Given the description of an element on the screen output the (x, y) to click on. 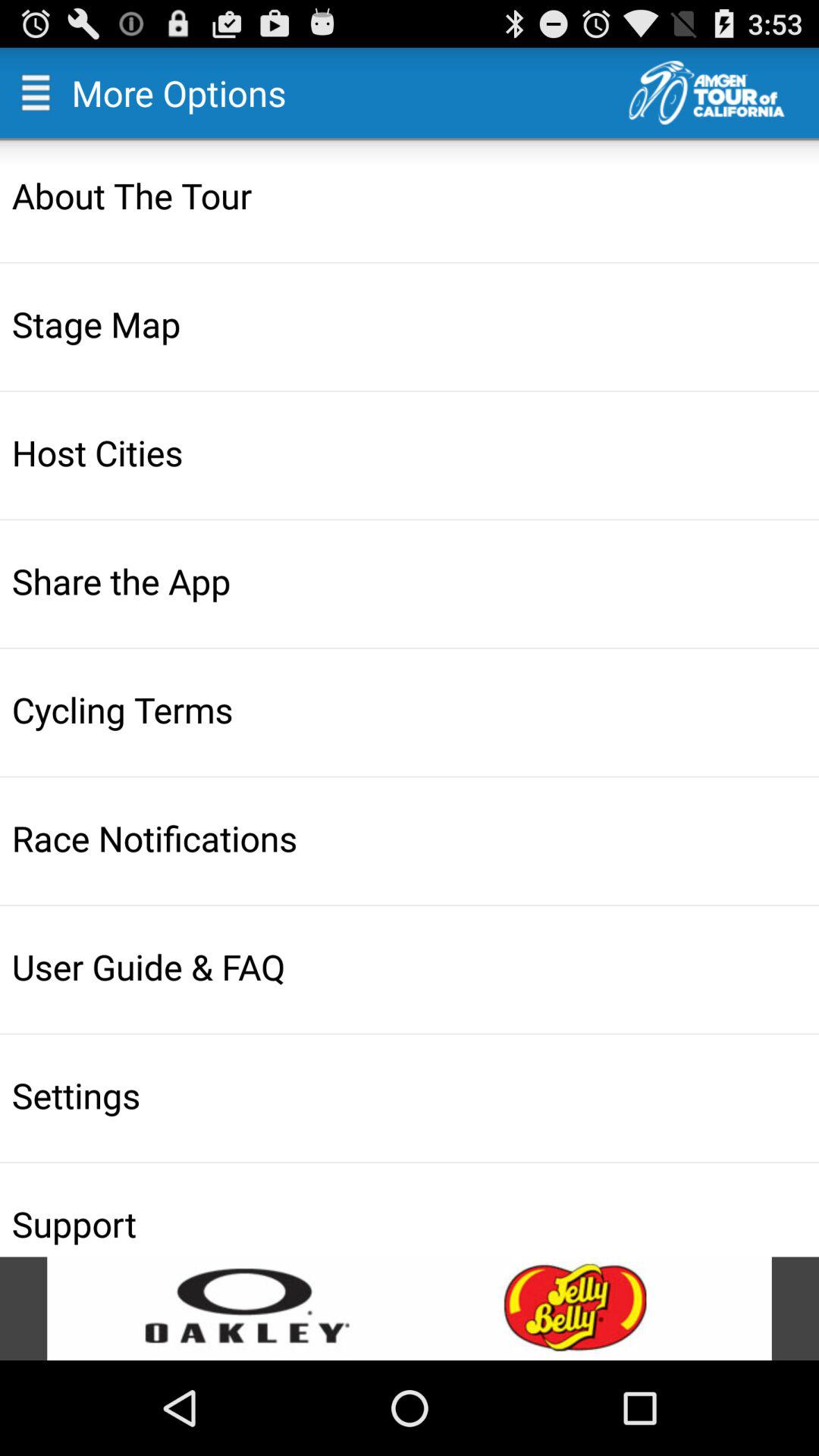
click item below share the app item (411, 709)
